Given the description of an element on the screen output the (x, y) to click on. 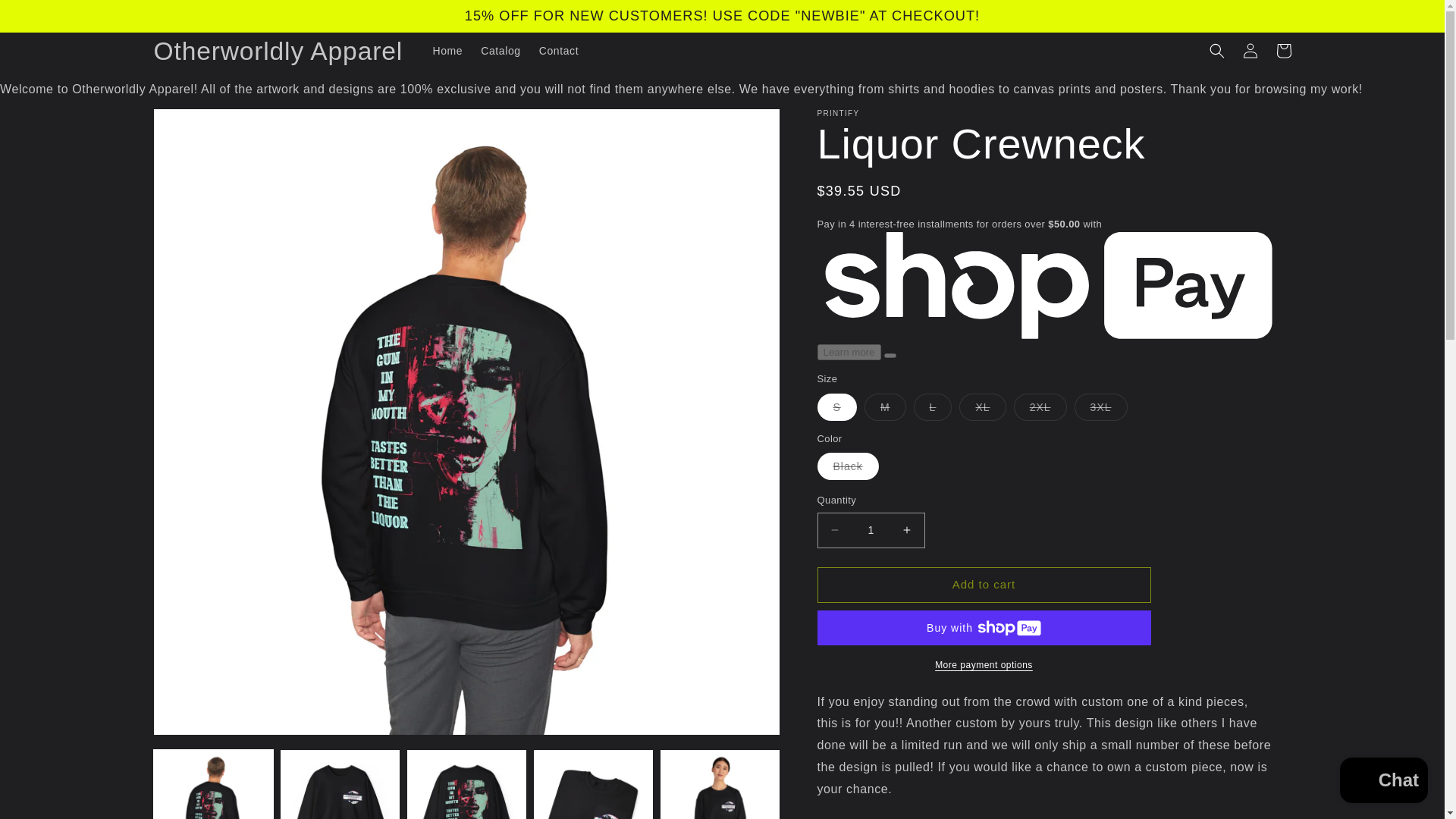
Skip to content (45, 17)
Shopify online store chat (1383, 781)
Catalog (500, 50)
Skip to product information (199, 126)
Otherworldly Apparel (277, 50)
Log in (1249, 50)
Home (447, 50)
